Given the description of an element on the screen output the (x, y) to click on. 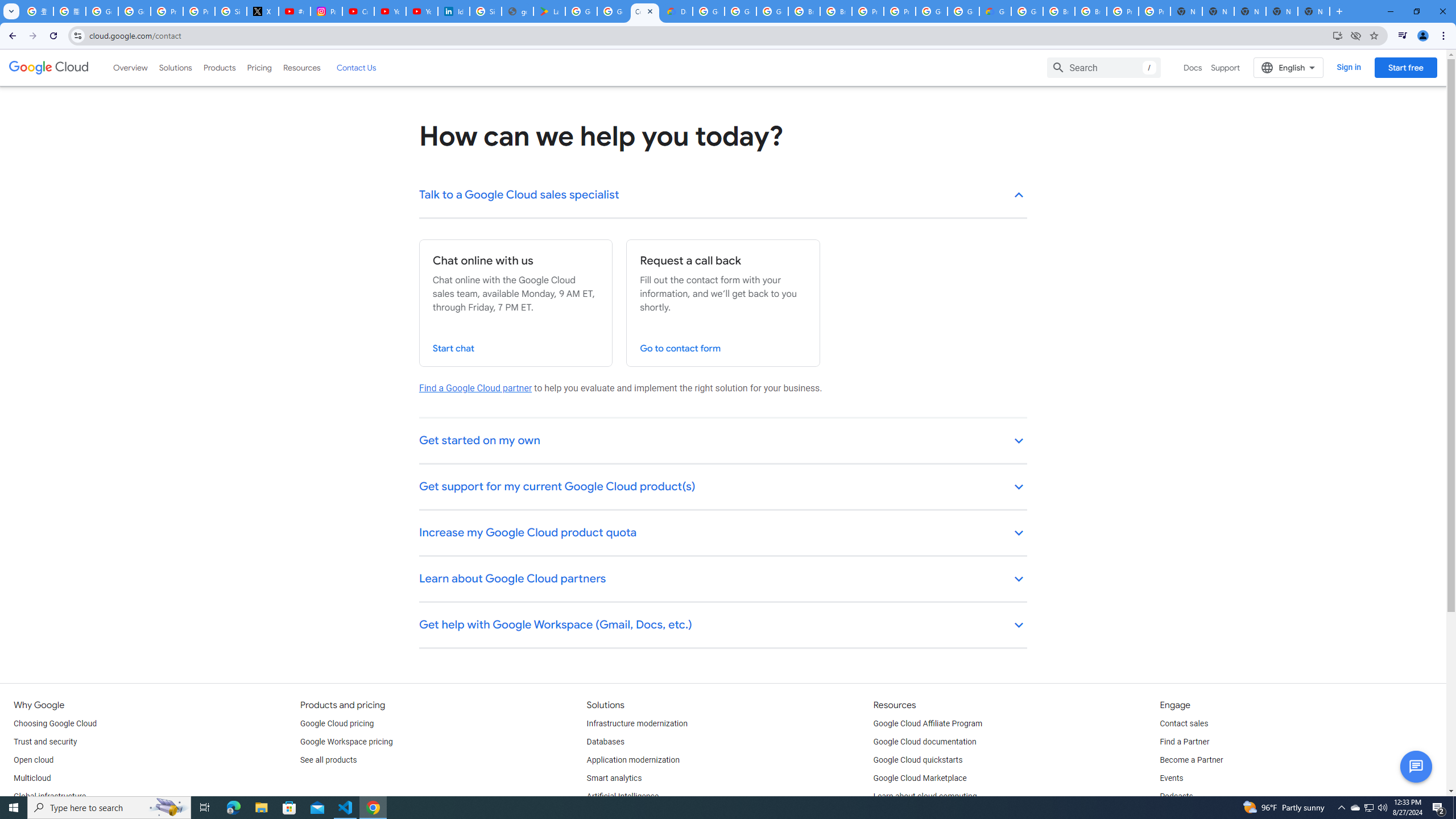
Global infrastructure (49, 796)
Button to activate chat (1416, 766)
Contact sales (1183, 723)
Privacy Help Center - Policies Help (198, 11)
Google Cloud Marketplace (919, 778)
Databases (605, 742)
Google Cloud Platform (931, 11)
Last Shelter: Survival - Apps on Google Play (549, 11)
